Given the description of an element on the screen output the (x, y) to click on. 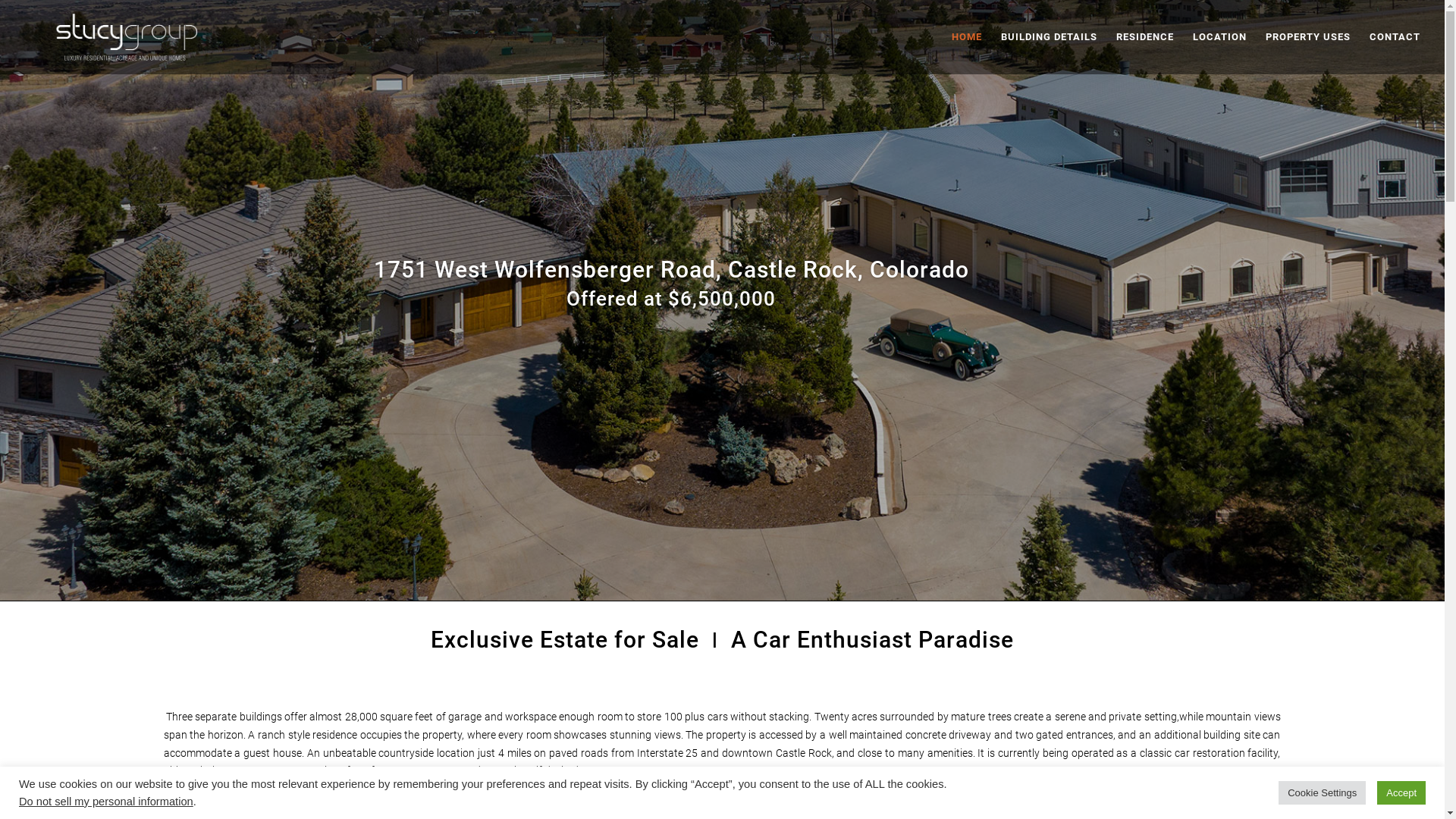
HOME Element type: text (966, 52)
Do not sell my personal information Element type: text (105, 801)
PROPERTY USES Element type: text (1307, 52)
BUILDING DETAILS Element type: text (1049, 52)
CONTACT Element type: text (1394, 52)
Accept Element type: text (1401, 792)
RESIDENCE Element type: text (1144, 52)
LOCATION Element type: text (1219, 52)
Cookie Settings Element type: text (1321, 792)
